Given the description of an element on the screen output the (x, y) to click on. 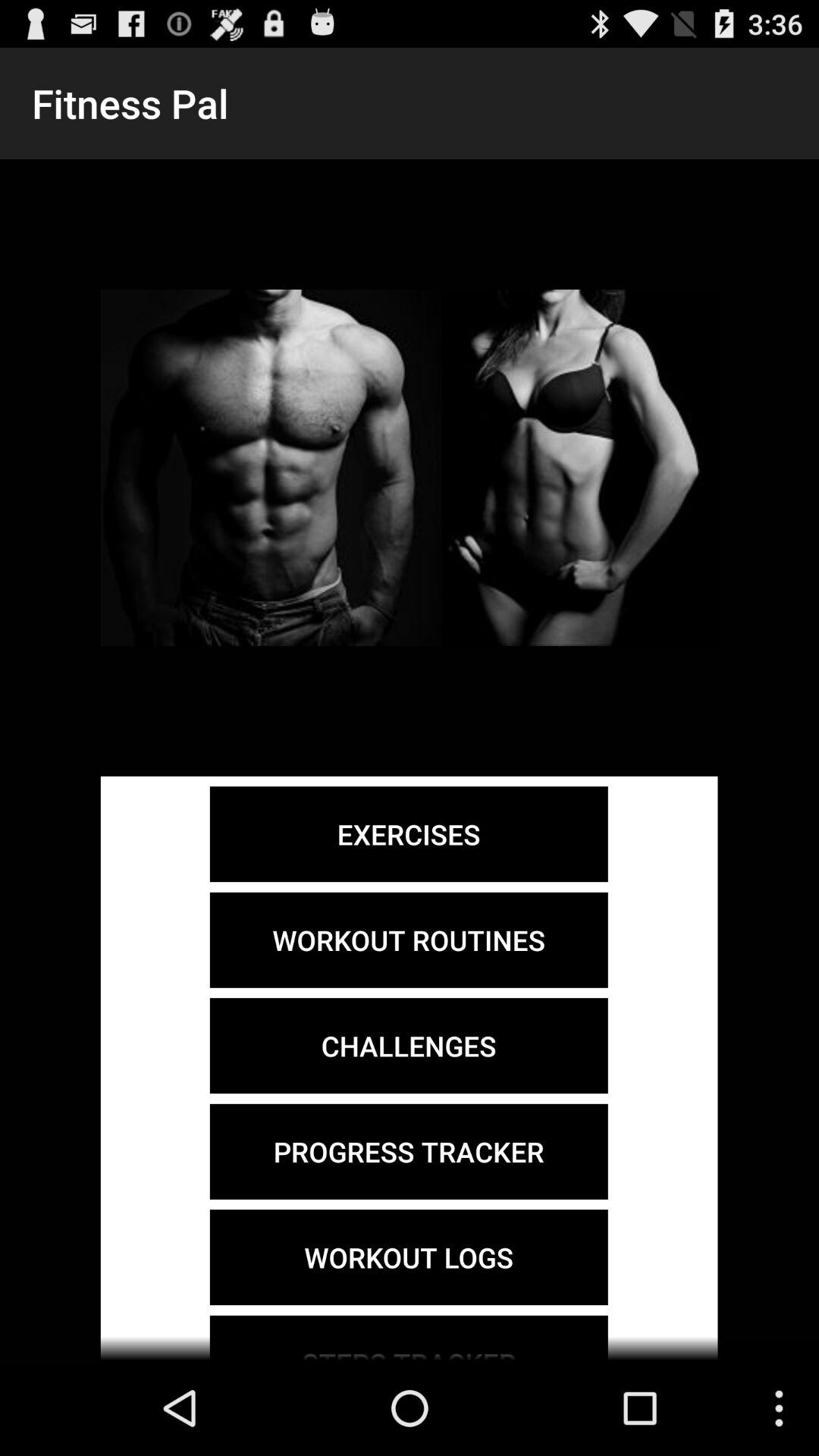
swipe until workout routines icon (408, 939)
